Given the description of an element on the screen output the (x, y) to click on. 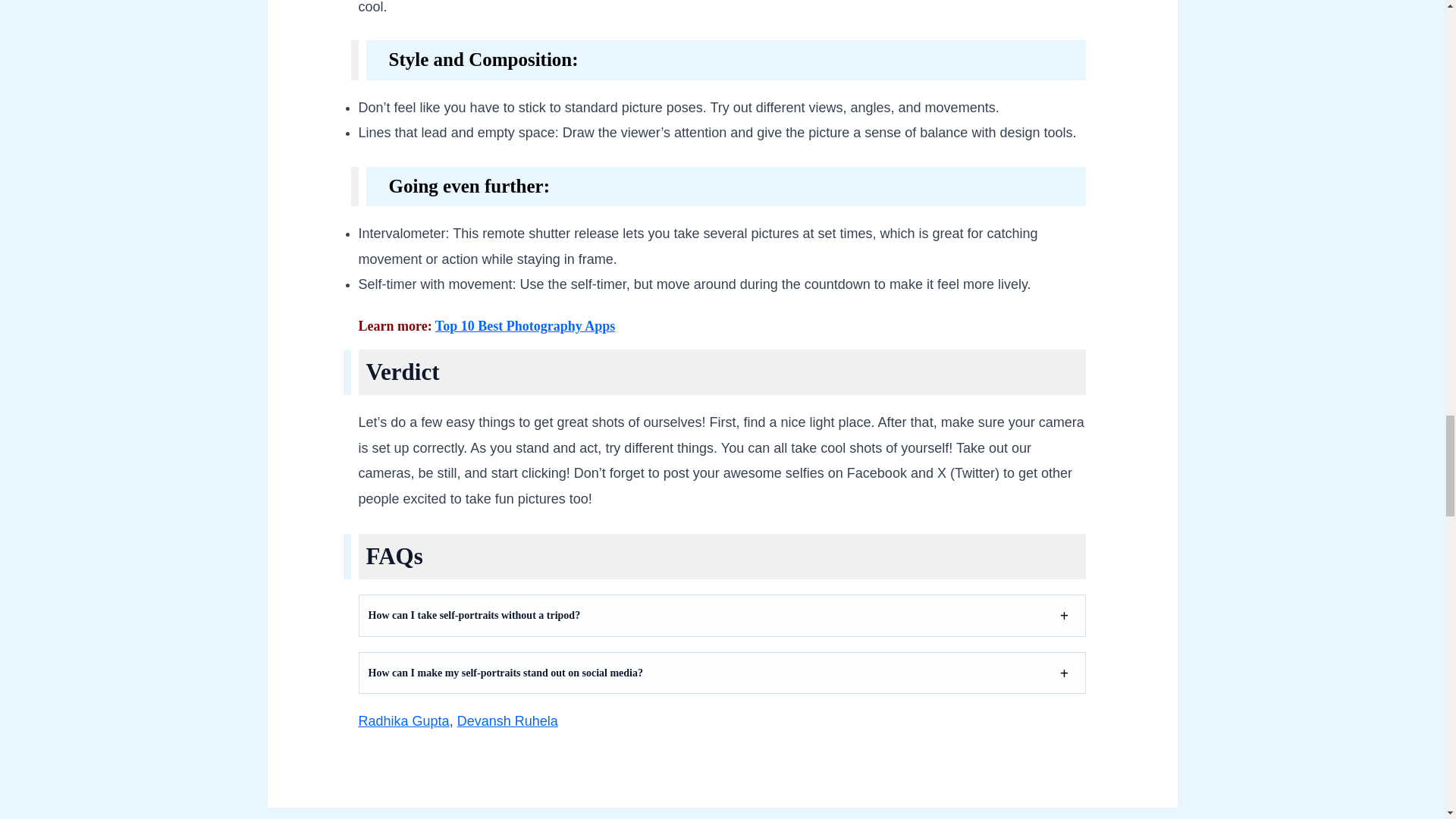
Devansh Ruhela (507, 720)
Radhika Gupta (403, 720)
Top 10 Best Photography Apps (524, 325)
Devansh Ruhela (507, 720)
Radhika Gupta (403, 720)
